Given the description of an element on the screen output the (x, y) to click on. 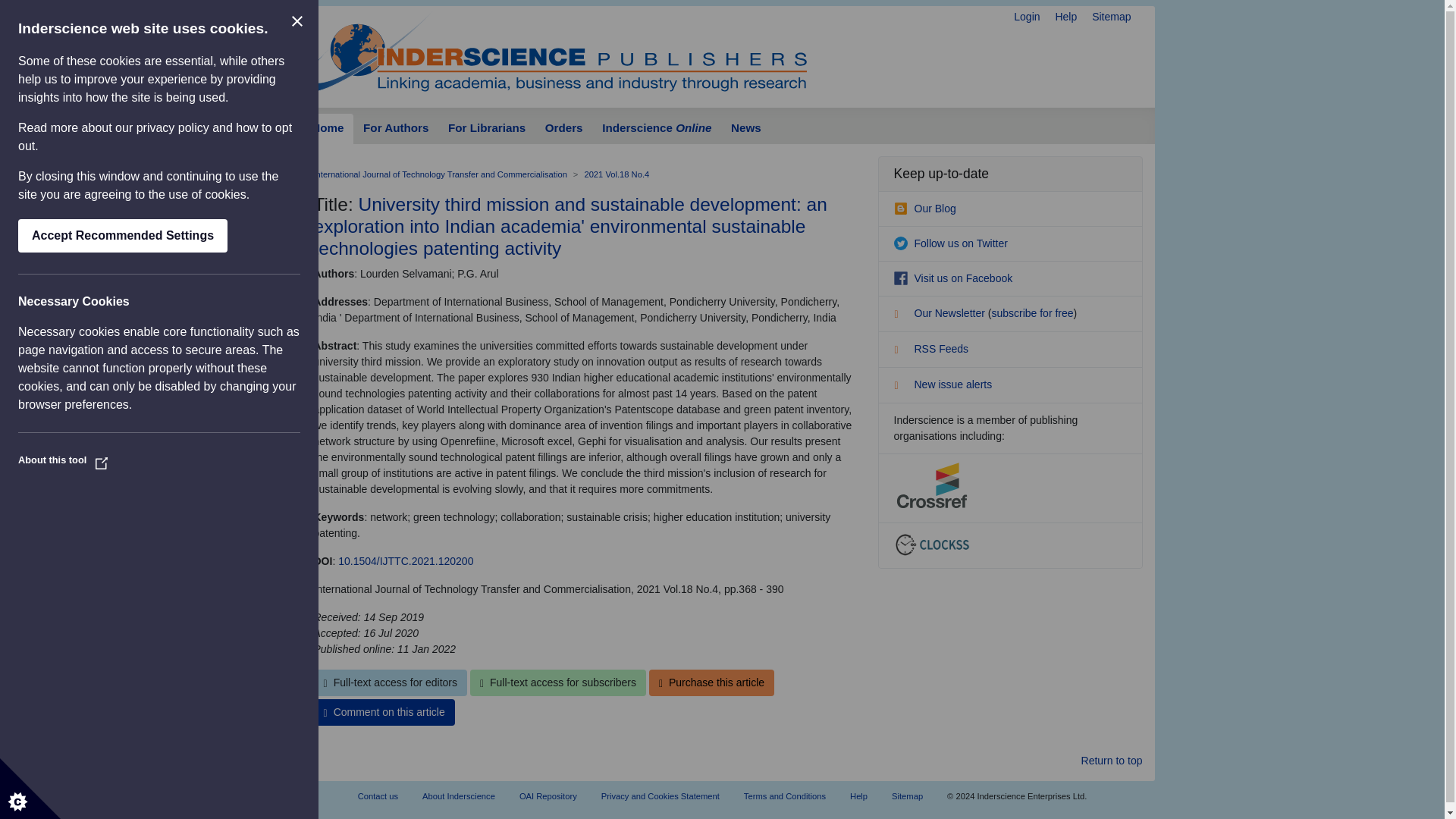
Orders (563, 128)
Login (1026, 16)
Full-text access for subscribers (558, 682)
Our Blog (924, 208)
subscribe for free (1032, 313)
Return to the top of the page (1111, 760)
For Authors (395, 128)
Follow us on Twitter (950, 243)
New issue alerts (942, 384)
Read our privacy policy (172, 127)
